Given the description of an element on the screen output the (x, y) to click on. 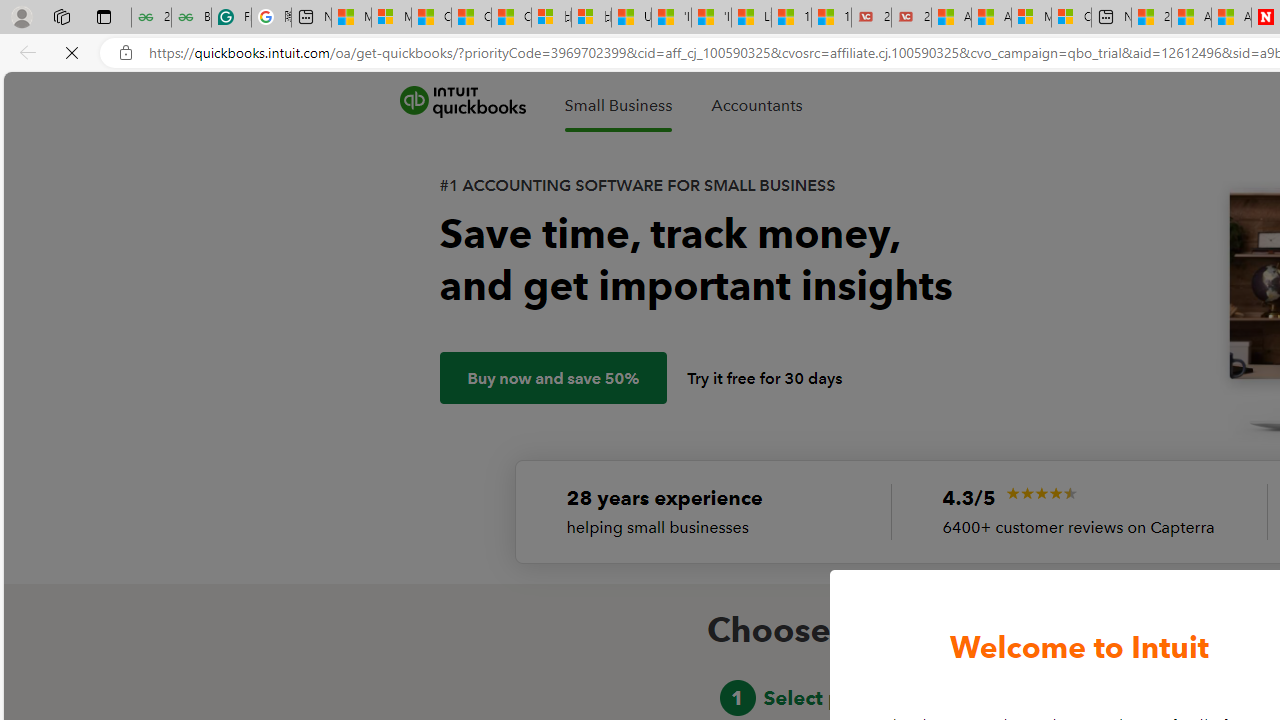
Buy now and save 50% (553, 378)
Best SSL Certificates Provider in India - GeeksforGeeks (191, 17)
25 Basic Linux Commands For Beginners - GeeksforGeeks (151, 17)
20 Ways to Boost Your Protein Intake at Every Meal (1151, 17)
Cloud Computing Services | Microsoft Azure (1071, 17)
Free AI Writing Assistance for Students | Grammarly (231, 17)
